Given the description of an element on the screen output the (x, y) to click on. 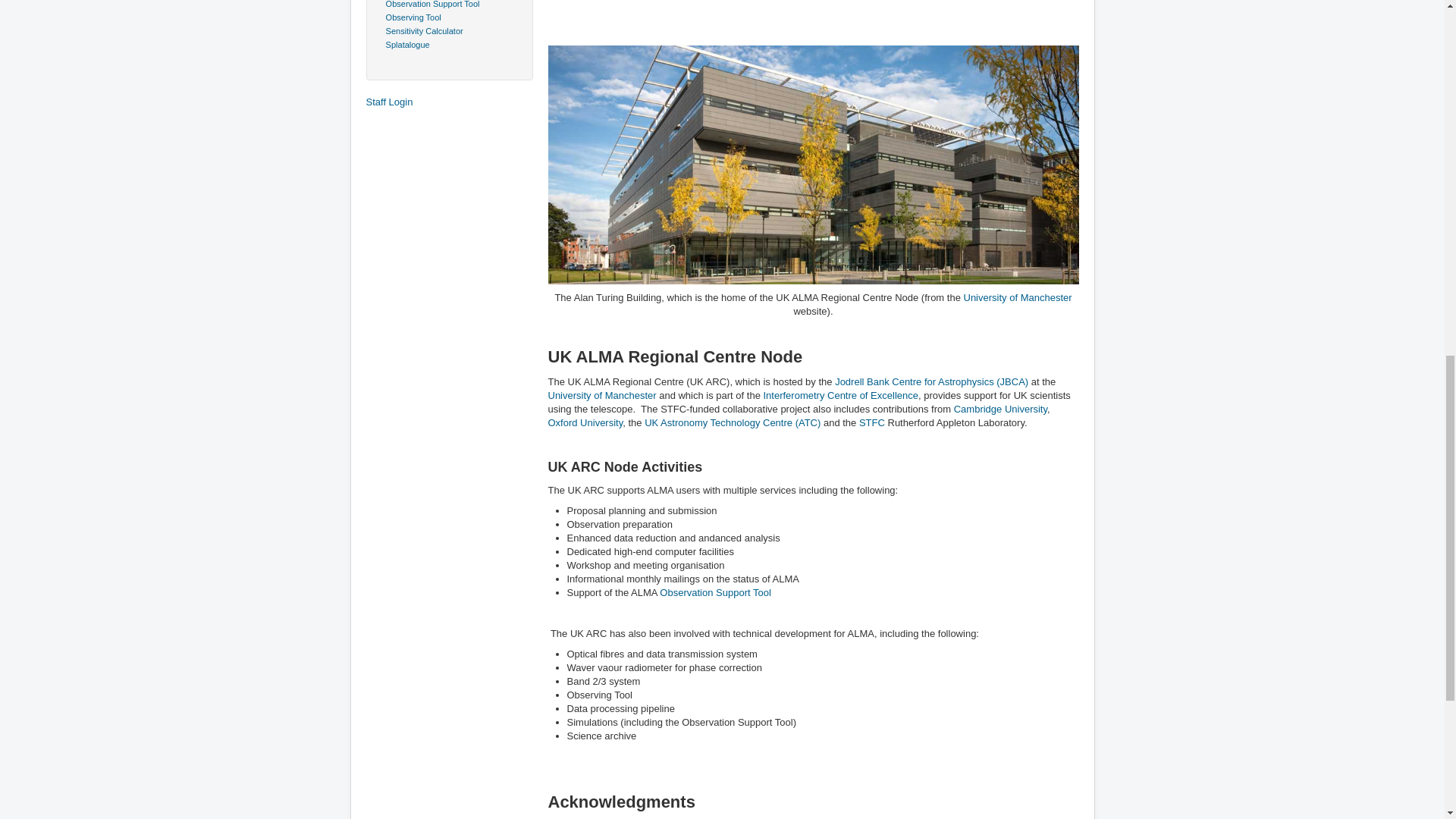
Oxford University (585, 422)
University of Manchester (1016, 297)
  Observation Support Tool (429, 4)
Cambridge University (999, 408)
Staff Login (448, 101)
  Splatalogue (404, 44)
Interferometry Centre of Excellence (839, 395)
University of Manchester (601, 395)
  Sensitivity Calculator (421, 31)
  Observing Tool (410, 17)
